Given the description of an element on the screen output the (x, y) to click on. 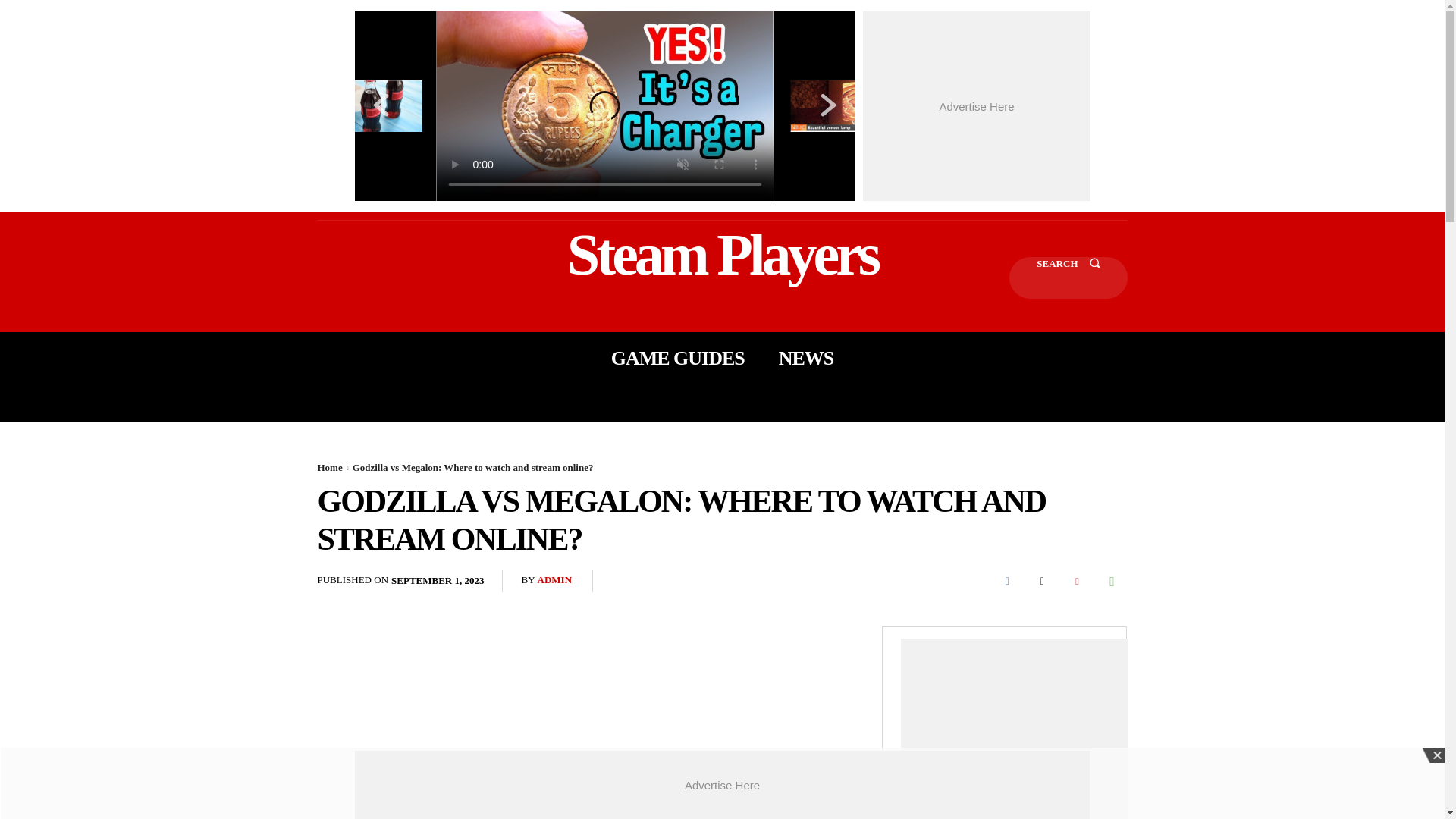
SEARCH (1067, 277)
GAME GUIDES (677, 358)
ADMIN (554, 580)
Twitter (1041, 581)
Home (329, 467)
Search (1067, 277)
Previous (381, 106)
Facebook (1006, 581)
NEWS (806, 358)
WhatsApp (1111, 581)
Next (828, 106)
Pinterest (1076, 581)
Steam Players (722, 253)
